Given the description of an element on the screen output the (x, y) to click on. 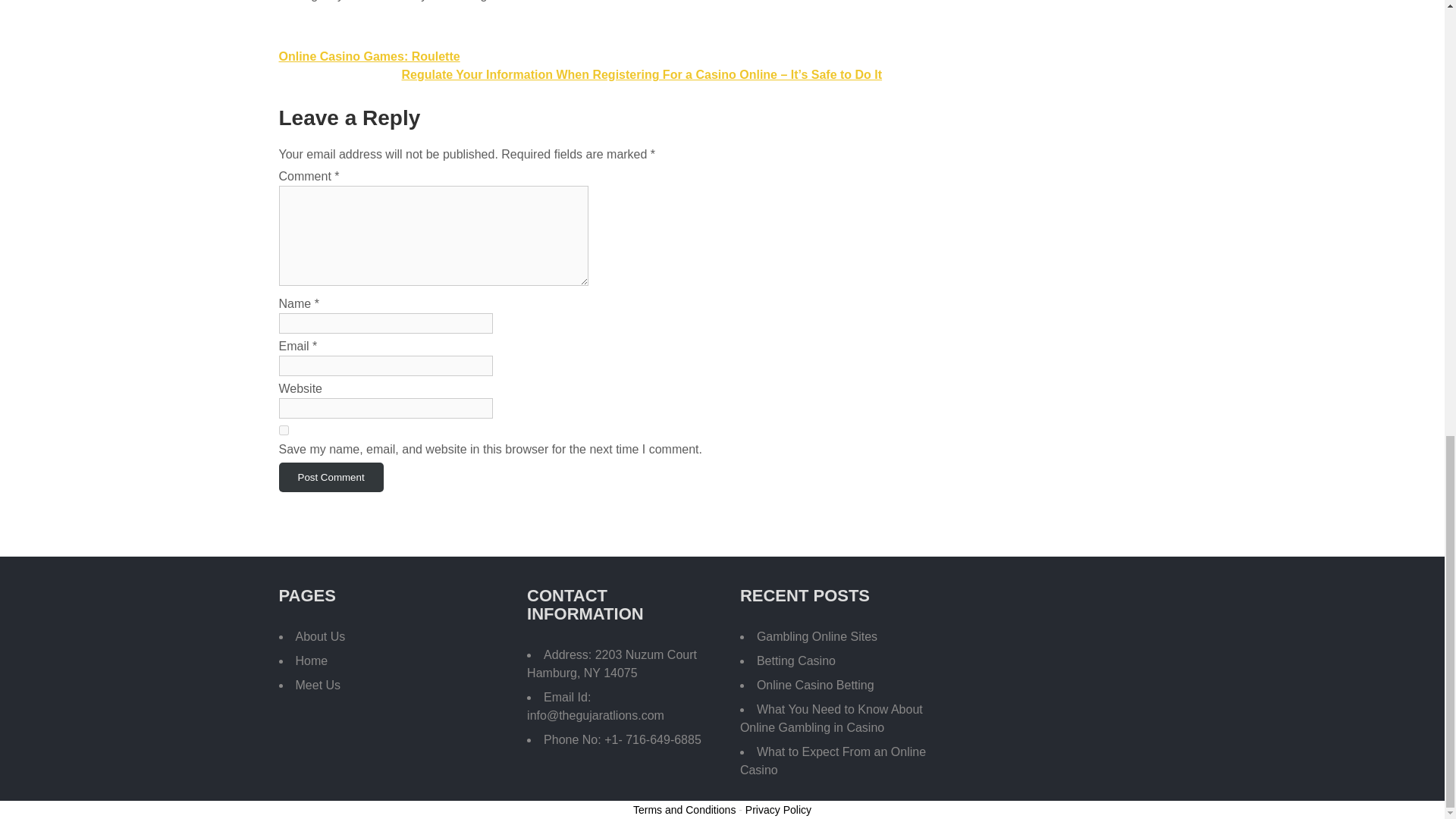
About Us (320, 635)
Gambling Online Sites (817, 635)
yes (283, 429)
Post Comment (331, 477)
Betting Casino (796, 660)
Online Casino Betting (816, 684)
What to Expect From an Online Casino (832, 760)
Privacy Policy (777, 809)
Meet Us (317, 684)
Online Casino Games: Roulette (369, 56)
Terms and Conditions (684, 809)
Post Comment (331, 477)
Home (312, 660)
What You Need to Know About Online Gambling in Casino (831, 717)
